Given the description of an element on the screen output the (x, y) to click on. 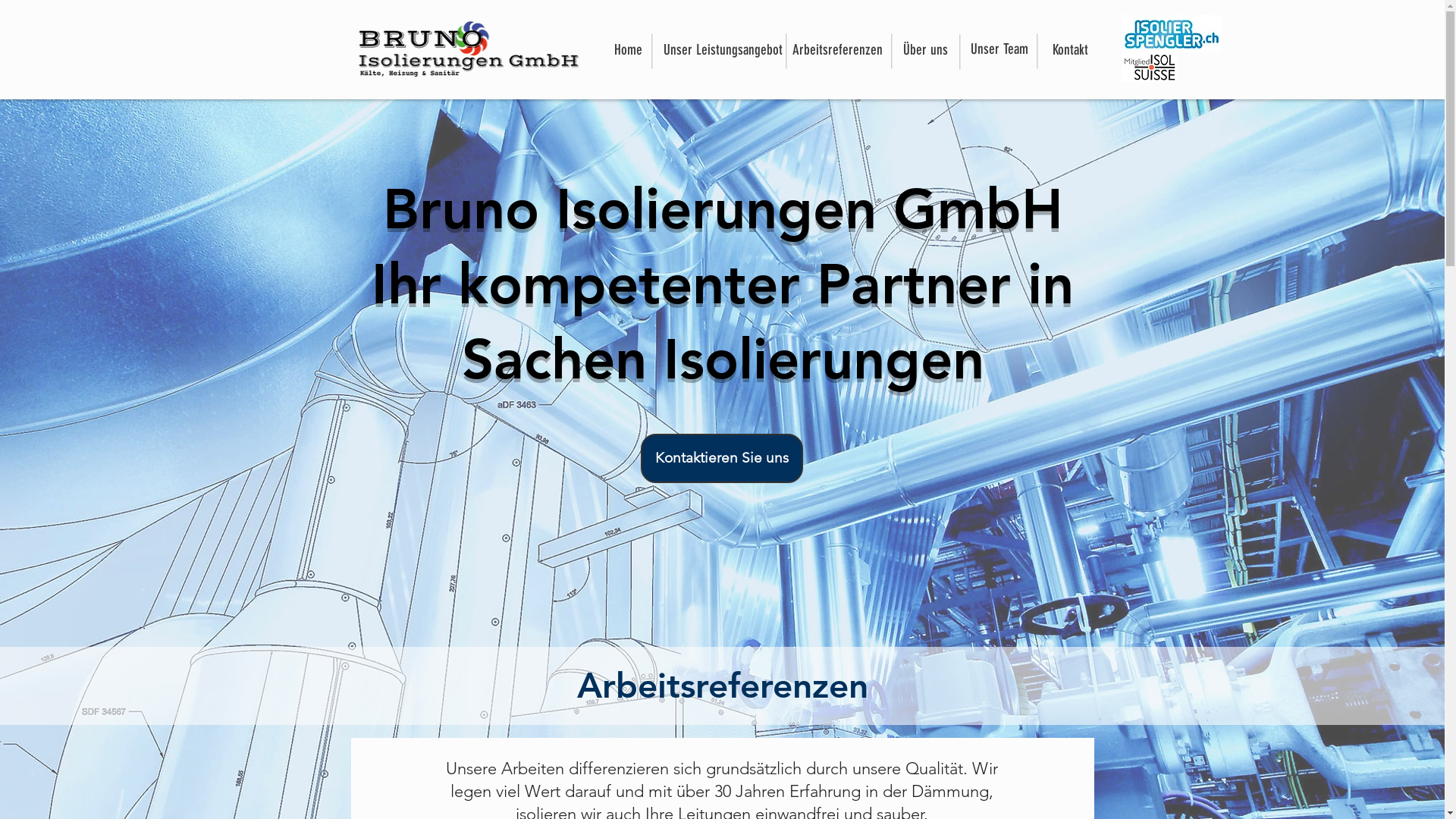
Unser Team Element type: text (999, 49)
Kontakt Element type: text (1070, 49)
Arbeitsreferenzen Element type: text (837, 49)
Unser Leistungsangebot Element type: text (721, 49)
Kontaktieren Sie uns Element type: text (721, 458)
Home Element type: text (628, 49)
